Given the description of an element on the screen output the (x, y) to click on. 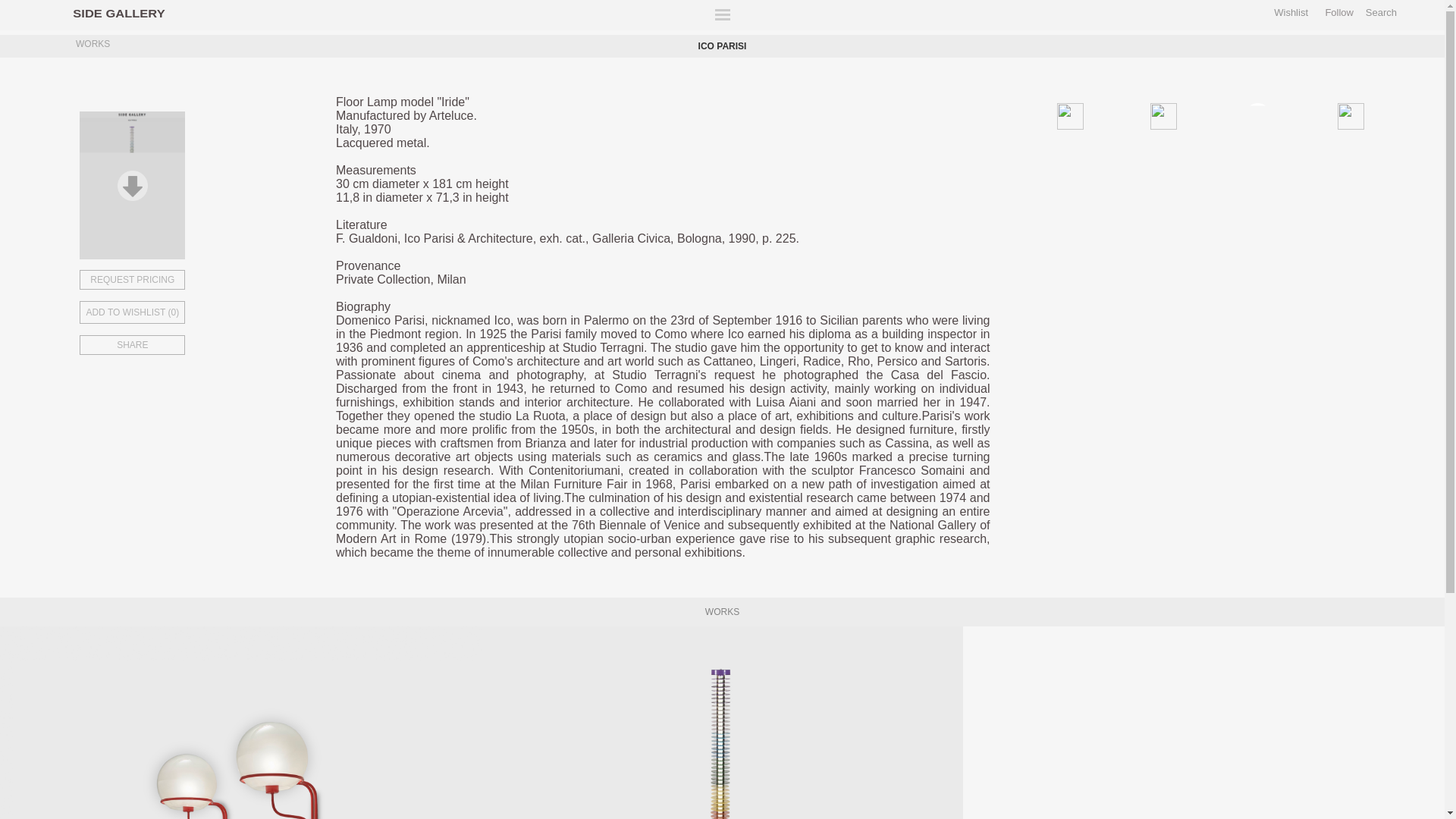
Wishlist (1290, 12)
WORKS (89, 46)
SHARE (187, 344)
Bookmark This (187, 308)
Share on Facebook. (1104, 114)
REQUEST PRICING (187, 279)
SIDE GALLERY (113, 12)
